Given the description of an element on the screen output the (x, y) to click on. 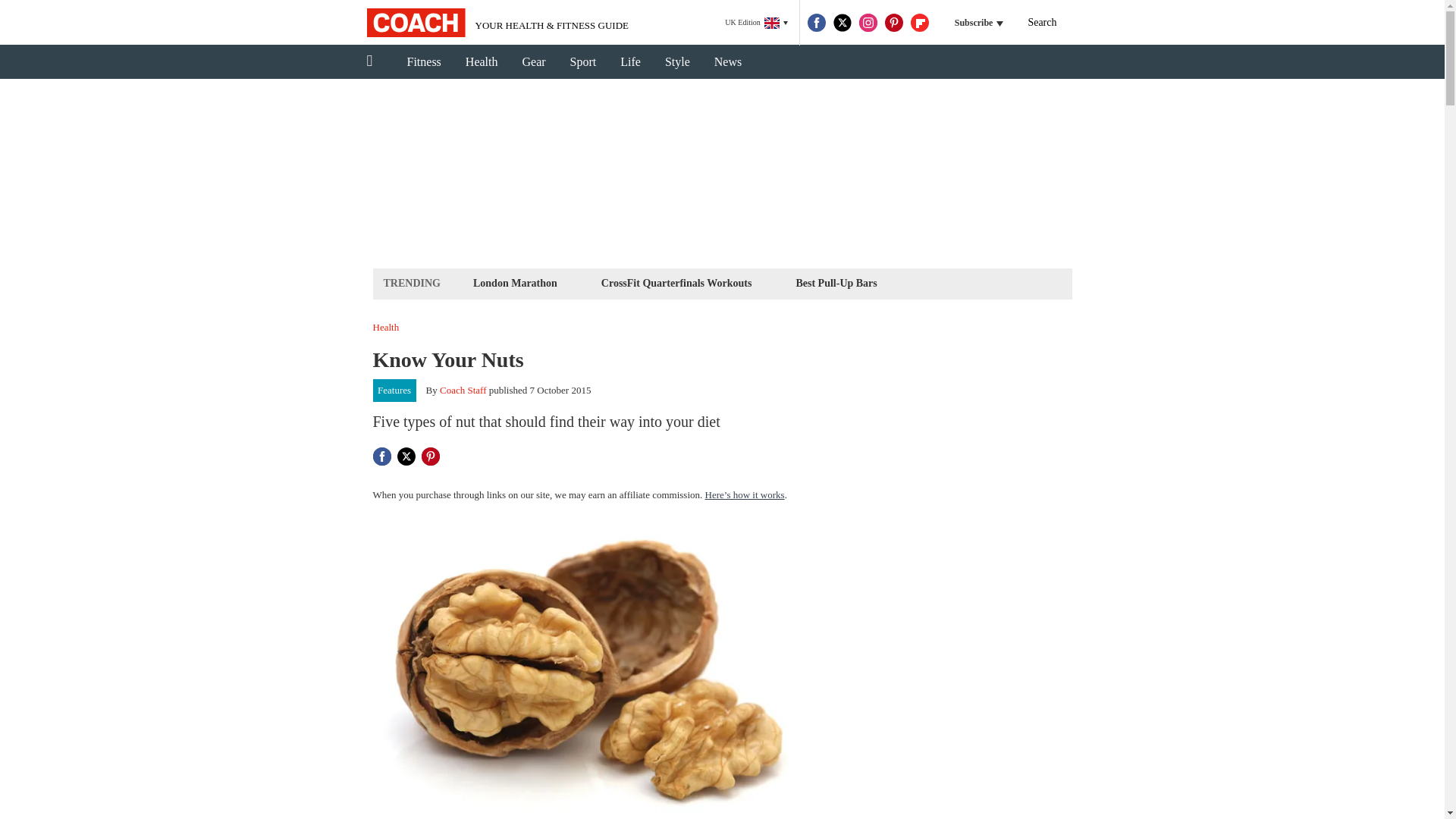
Best Pull-Up Bars (836, 282)
Features (394, 390)
Gear (533, 61)
Coach Staff (462, 389)
Style (676, 61)
News (727, 61)
Health (481, 61)
CrossFit Quarterfinals Workouts (676, 282)
Sport (582, 61)
Fitness (423, 61)
